Given the description of an element on the screen output the (x, y) to click on. 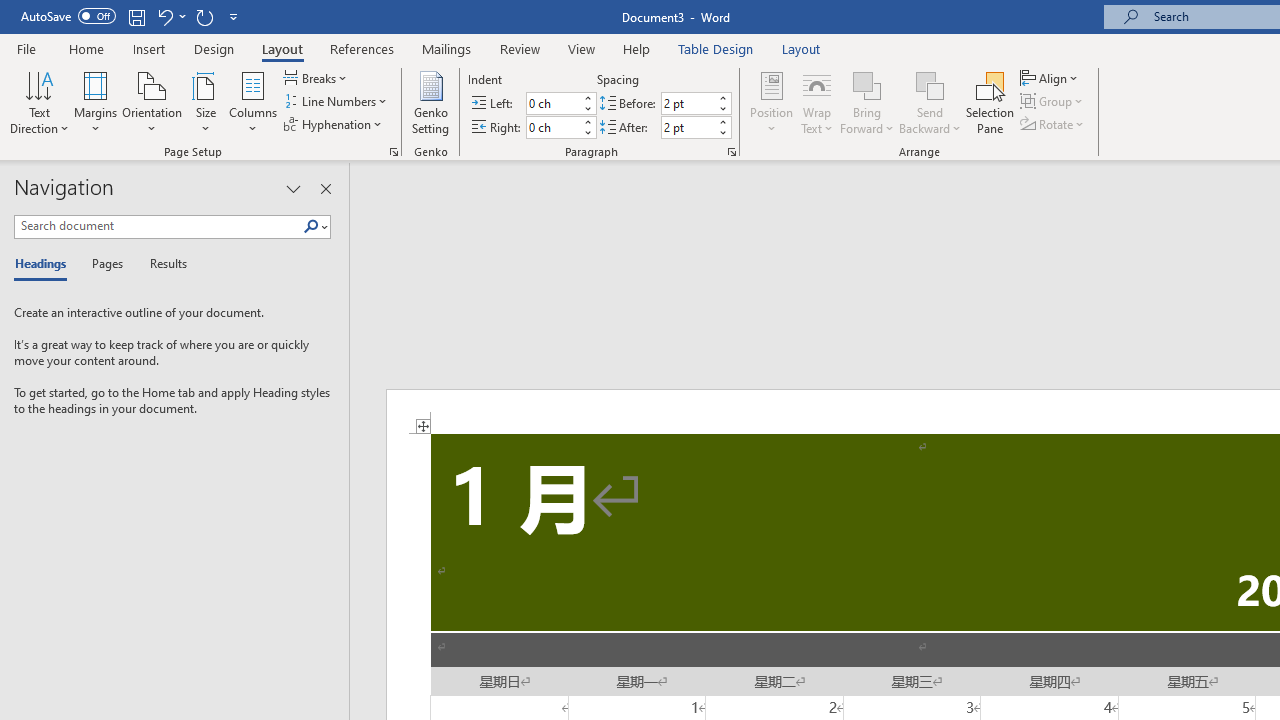
Undo Increase Indent (164, 15)
Send Backward (930, 102)
Line Numbers (337, 101)
Bring Forward (867, 102)
Hyphenation (334, 124)
Rotate (1053, 124)
Send Backward (930, 84)
Repeat Doc Close (204, 15)
Align (1051, 78)
Results (161, 264)
Page Setup... (393, 151)
